Given the description of an element on the screen output the (x, y) to click on. 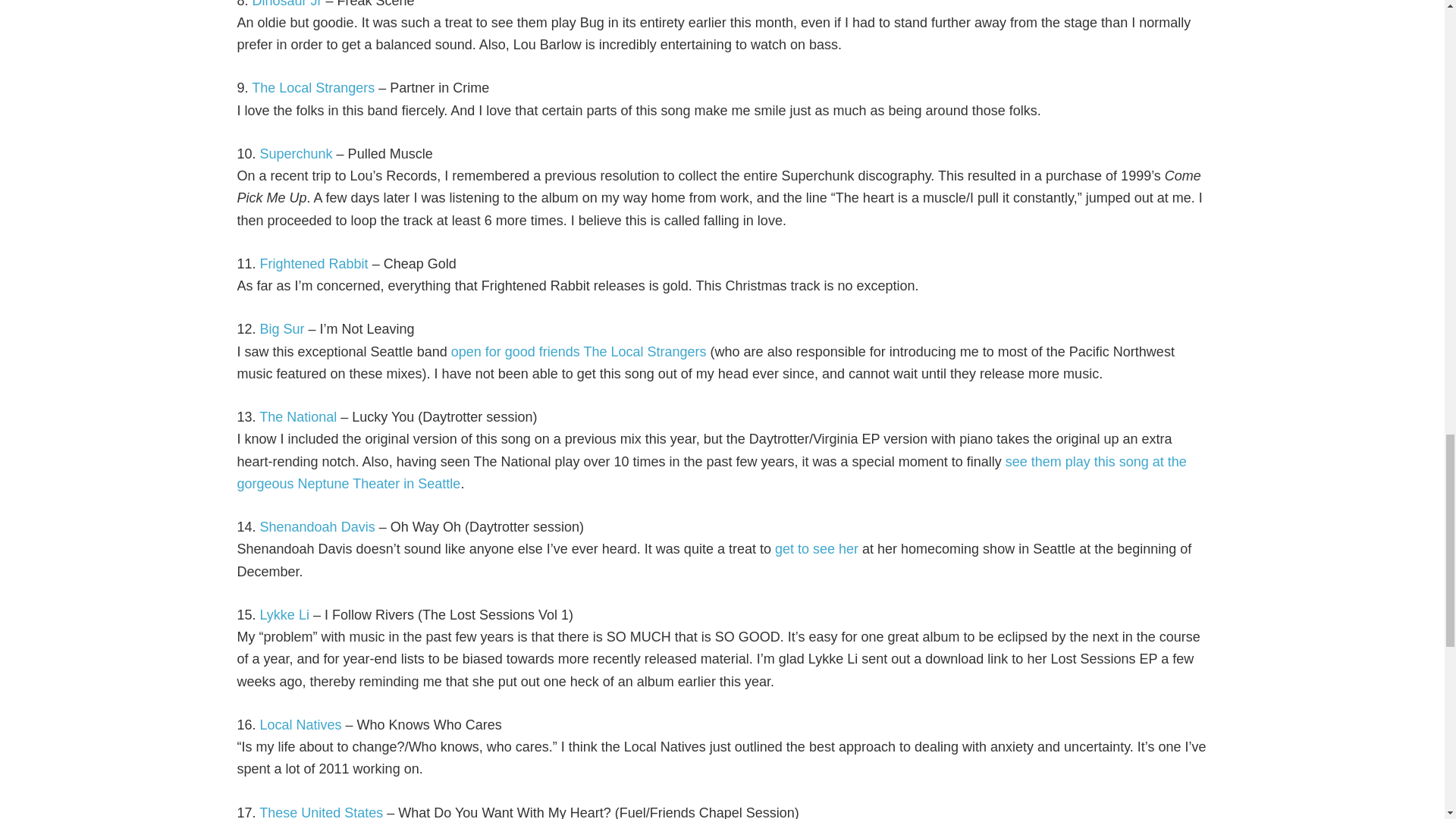
Frightened Rabbit (314, 263)
The Local Strangers (312, 87)
get to see her (816, 548)
These United States (320, 812)
The National (297, 417)
Shenandoah Davis (317, 526)
The Local Strangers (644, 351)
Big Sur (282, 328)
Superchunk (296, 153)
Lykke Li (284, 614)
